Given the description of an element on the screen output the (x, y) to click on. 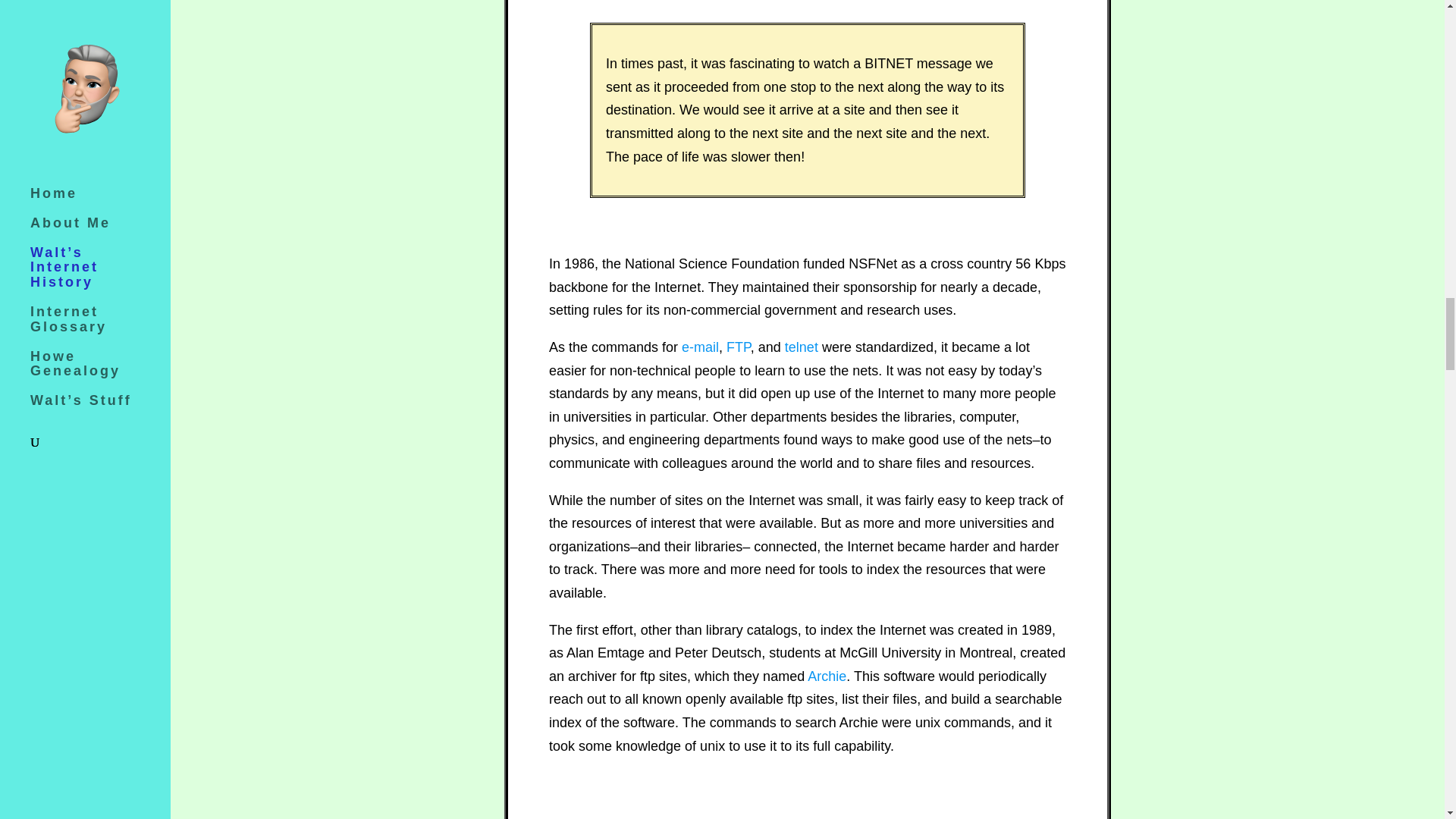
FTP (738, 346)
e-mail (700, 346)
Archie (826, 676)
telnet (801, 346)
